Given the description of an element on the screen output the (x, y) to click on. 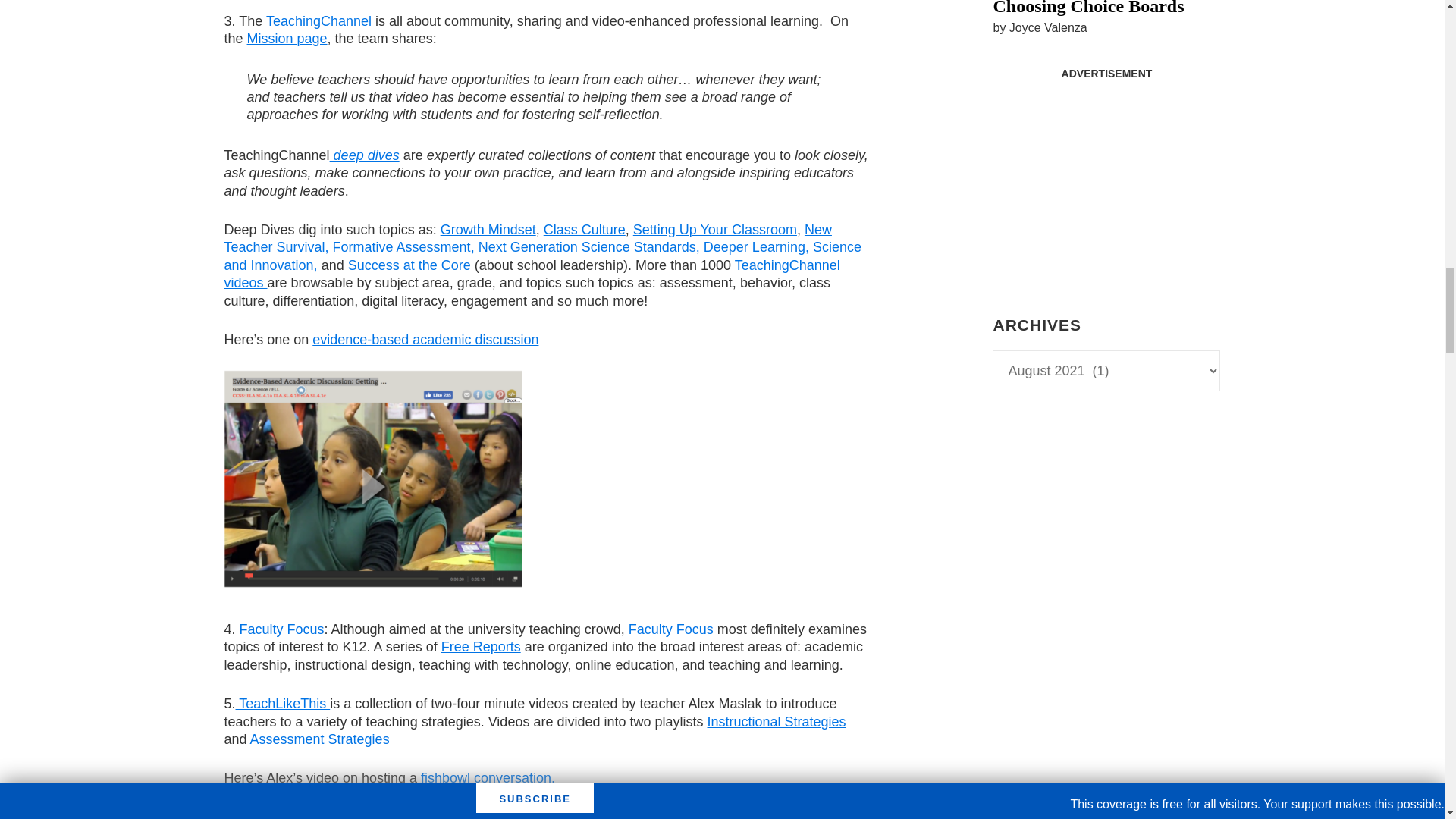
TeachLikeThis (282, 703)
Instructional Strategies (776, 721)
